Given the description of an element on the screen output the (x, y) to click on. 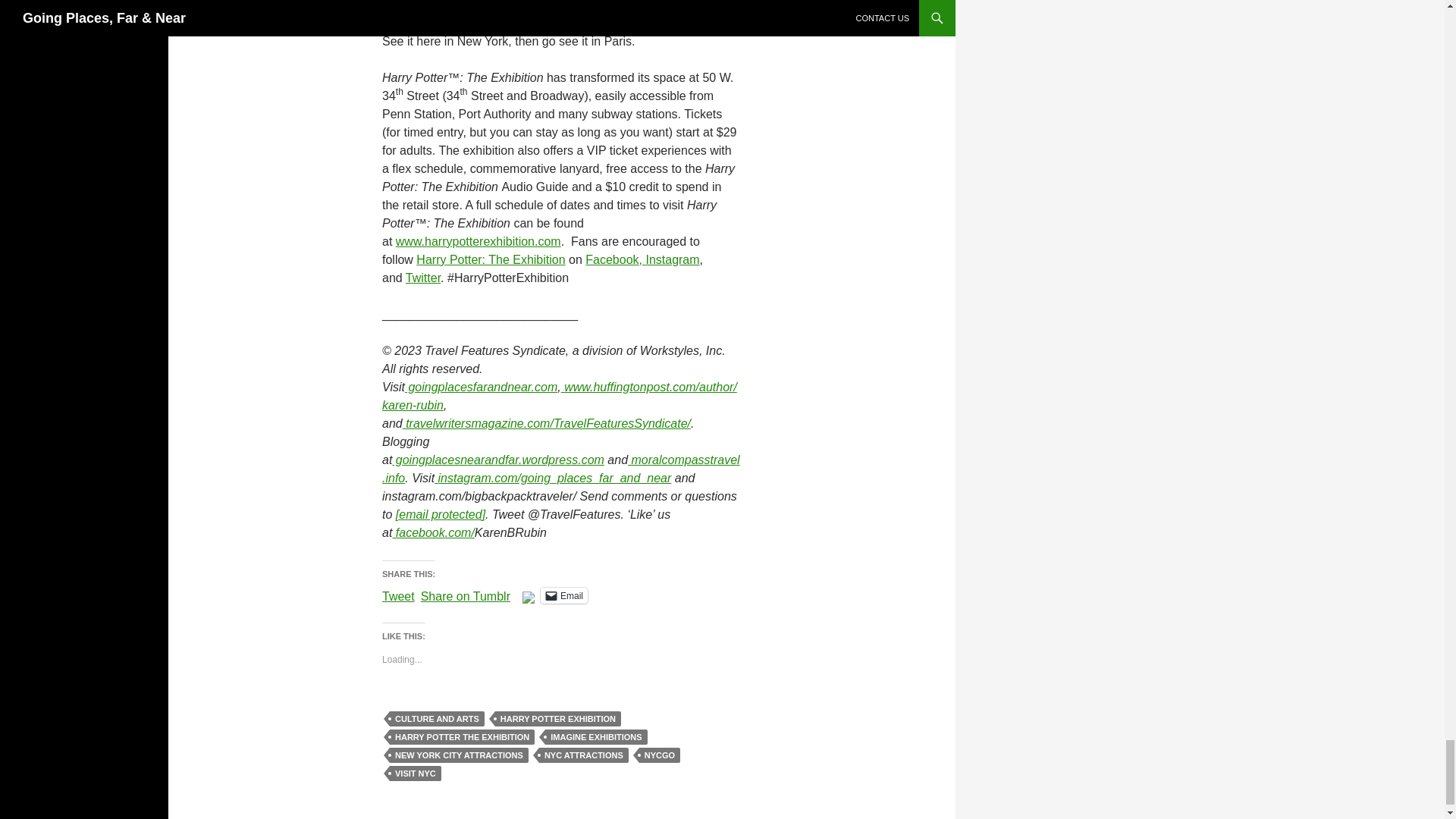
www.harrypotterexhibition.com (478, 241)
Harry Potter: The Exhibition (490, 259)
 moralcompasstravel.info (560, 468)
Click to email a link to a friend (564, 595)
Twitter (423, 277)
Facebook (612, 259)
 goingplacesnearandfar.wordpress.com (497, 459)
 goingplacesfarandnear.com (480, 386)
Share on Tumblr (465, 594)
Instagram (671, 259)
